Given the description of an element on the screen output the (x, y) to click on. 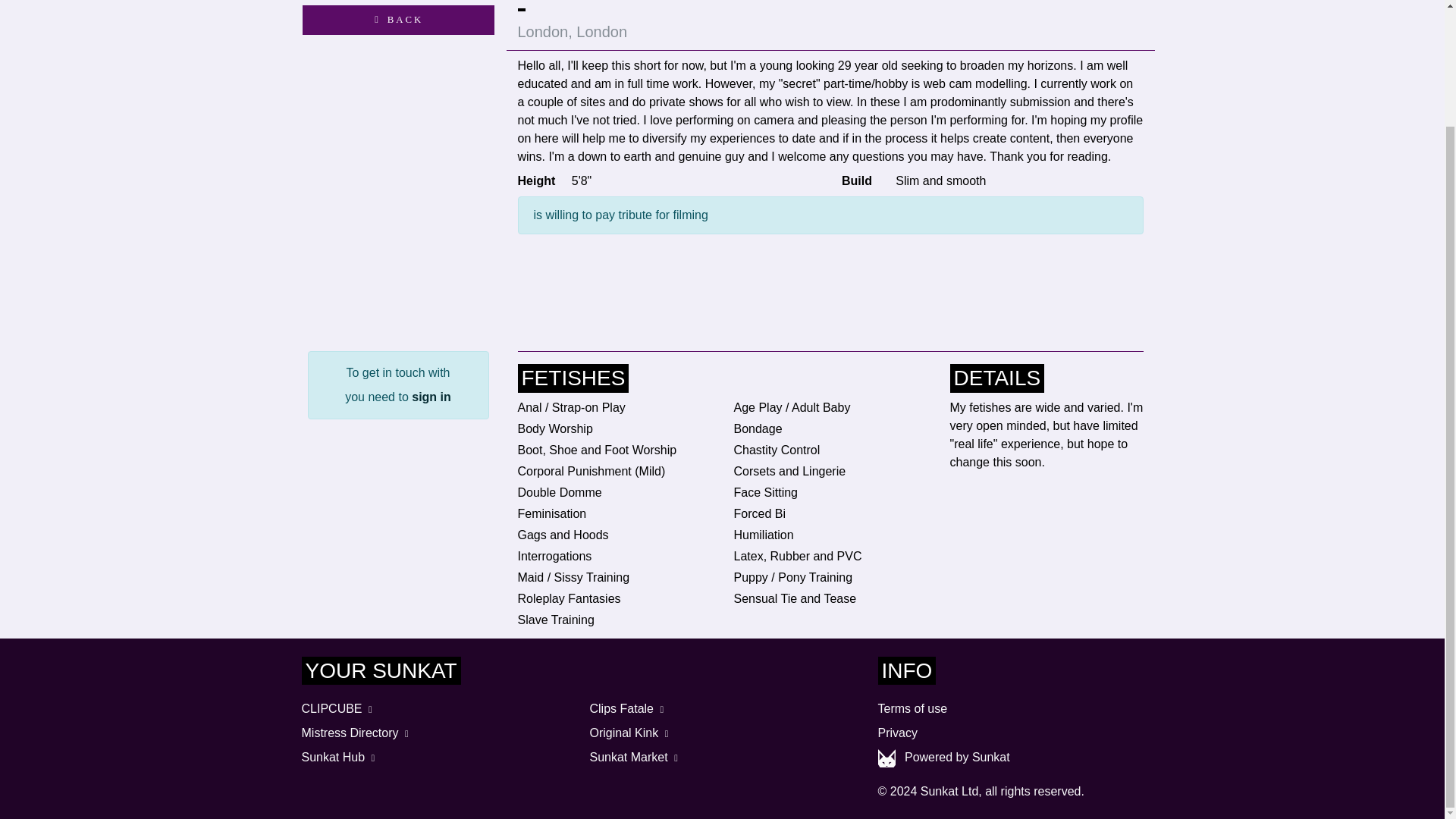
BACK (398, 20)
Sunkat Hub (339, 757)
Original Kink (630, 732)
Mistress Directory (356, 732)
Sunkat Market (635, 757)
Privacy (897, 732)
Powered by Sunkat (957, 757)
Terms of use (912, 707)
sign in (431, 396)
Clips Fatale (627, 707)
CLIPCUBE (338, 707)
